Given the description of an element on the screen output the (x, y) to click on. 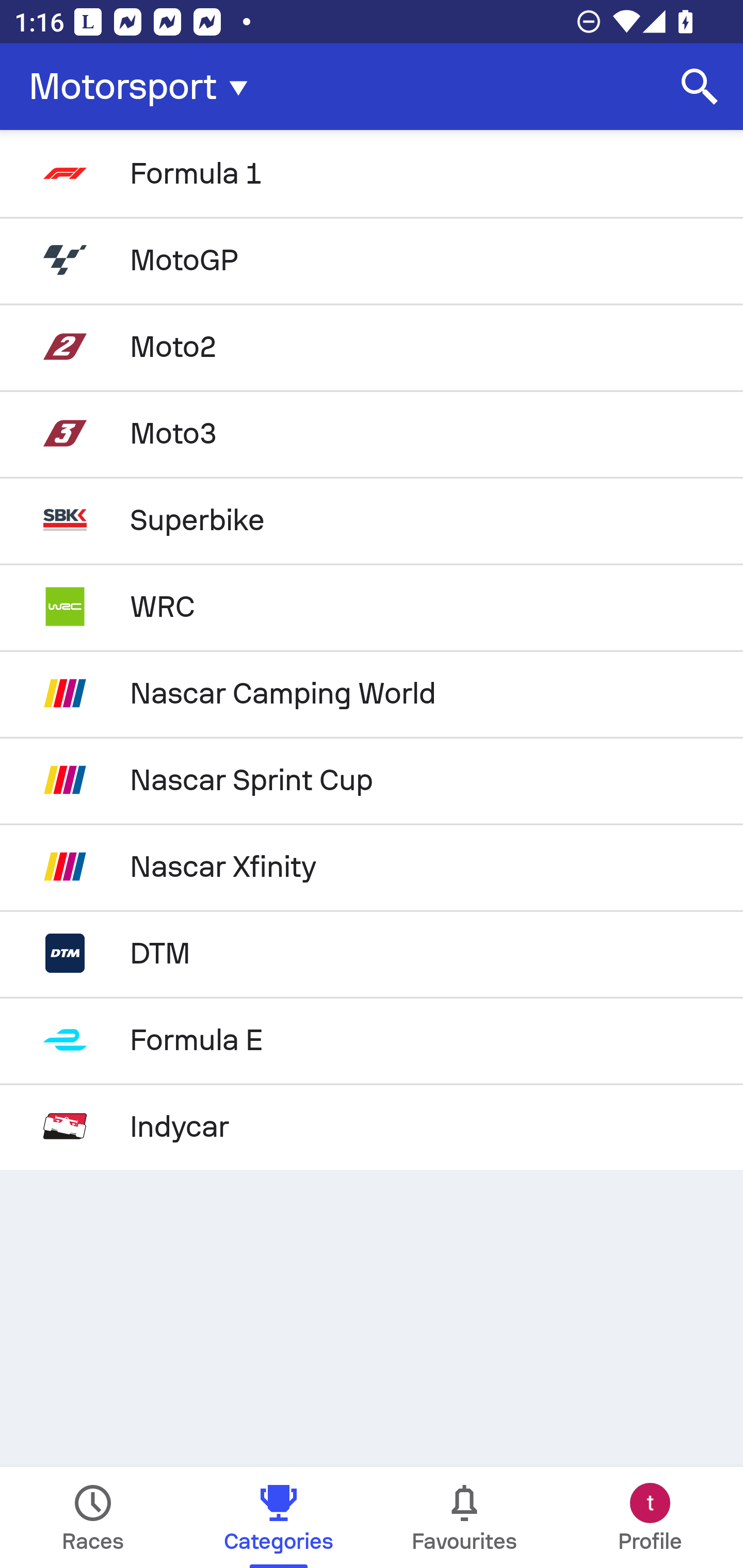
Motorsport (144, 86)
Search (699, 86)
Formula 1 (371, 173)
MotoGP (371, 259)
Moto2 (371, 346)
Moto3 (371, 433)
Superbike (371, 519)
WRC (371, 605)
Nascar Camping World (371, 692)
Nascar Sprint Cup (371, 779)
Nascar Xfinity (371, 866)
DTM (371, 953)
Formula E (371, 1040)
Indycar (371, 1126)
Races (92, 1517)
Favourites (464, 1517)
Profile (650, 1517)
